Given the description of an element on the screen output the (x, y) to click on. 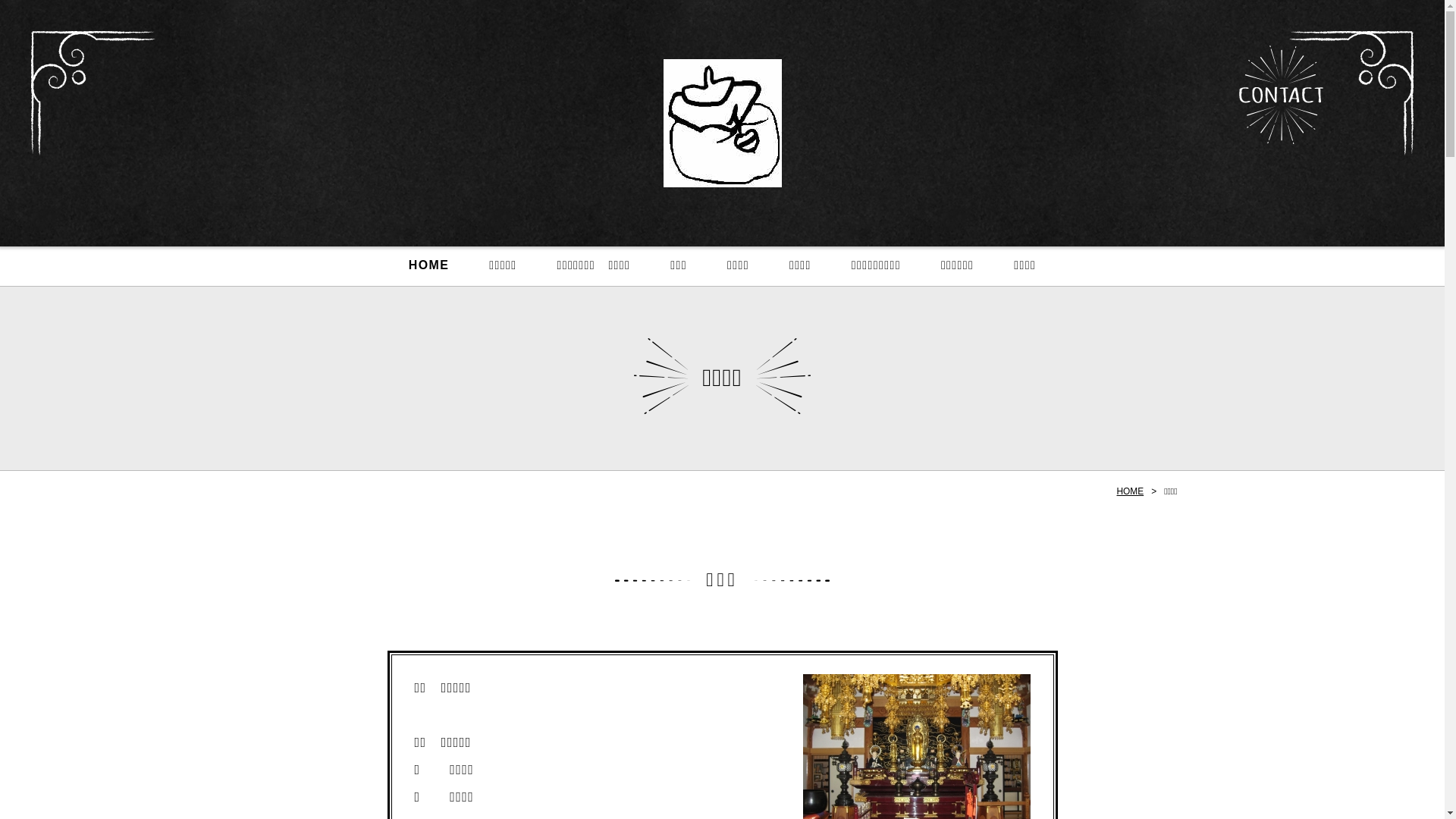
HOME Element type: text (1129, 491)
CONTACT Element type: text (1281, 94)
HOME Element type: text (428, 266)
